Given the description of an element on the screen output the (x, y) to click on. 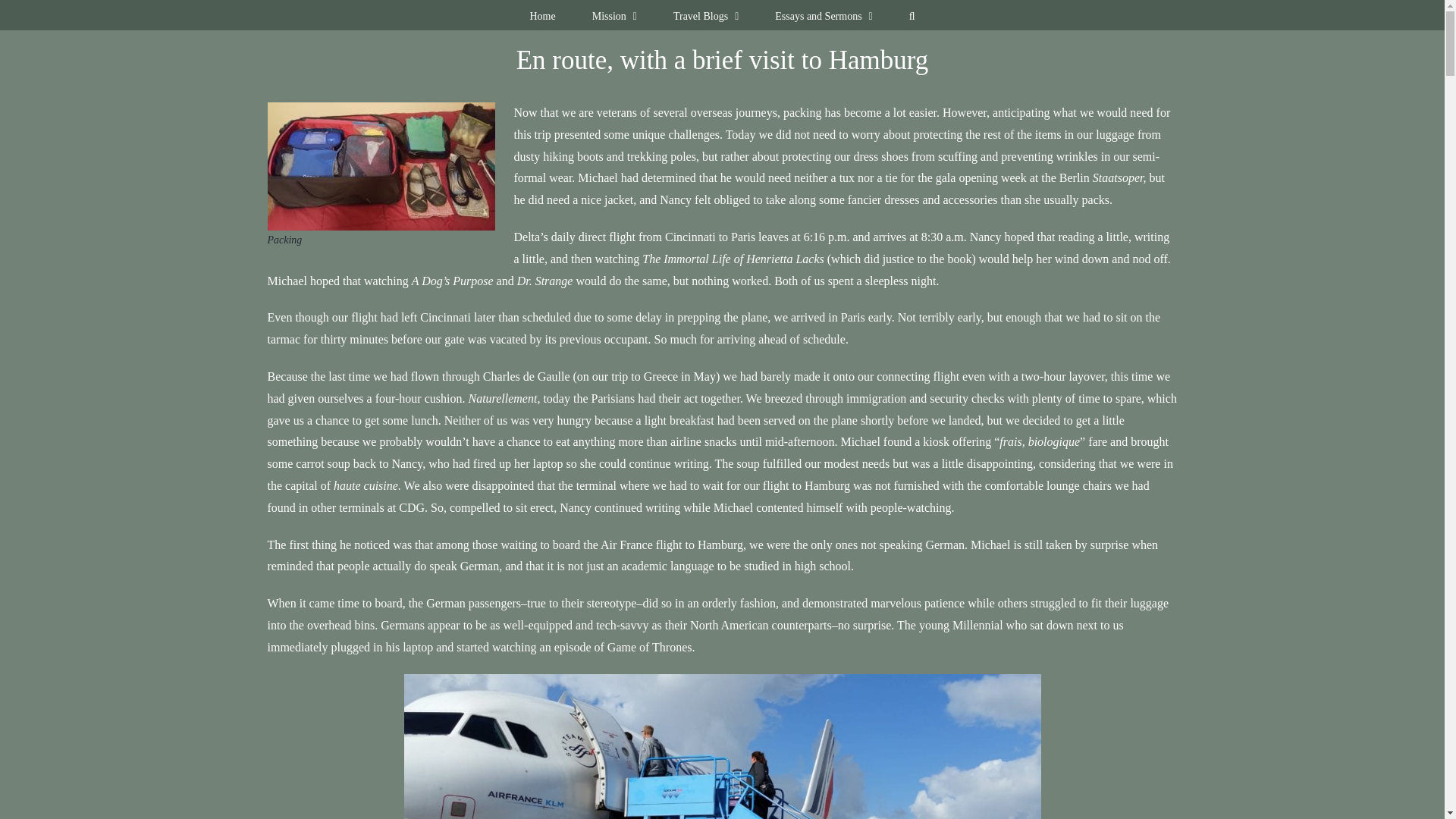
Home (541, 15)
Search (911, 15)
Travel Blogs (705, 15)
Essays and Sermons (823, 15)
Mission (614, 15)
